Given the description of an element on the screen output the (x, y) to click on. 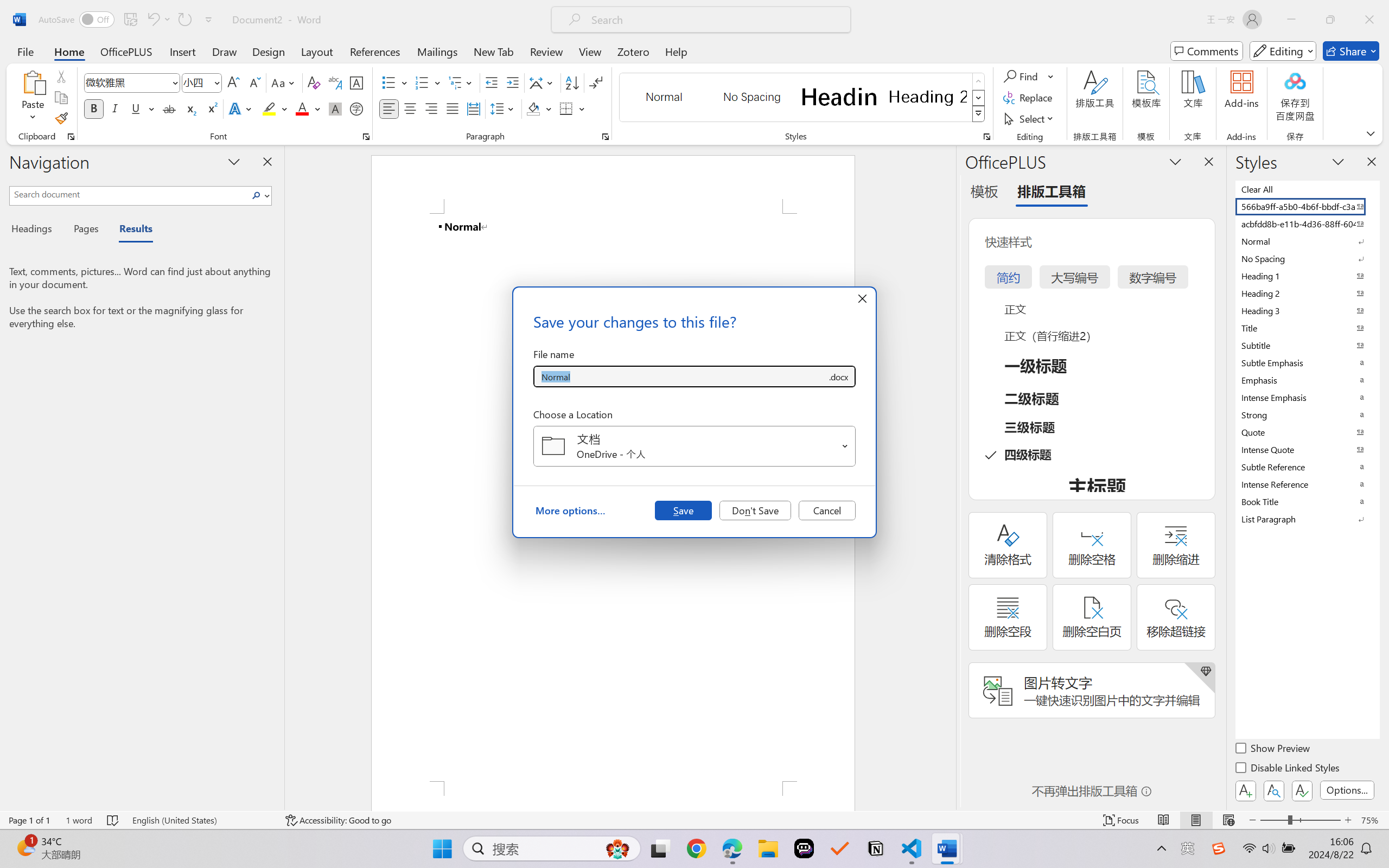
AutomationID: DynamicSearchBoxGleamImage (617, 848)
Increase Indent (512, 82)
Poe (804, 848)
Review (546, 51)
Layout (316, 51)
Paste (33, 97)
Zotero (632, 51)
Restore Down (1330, 19)
Numbering (428, 82)
Focus  (1121, 819)
Find (1029, 75)
